Given the description of an element on the screen output the (x, y) to click on. 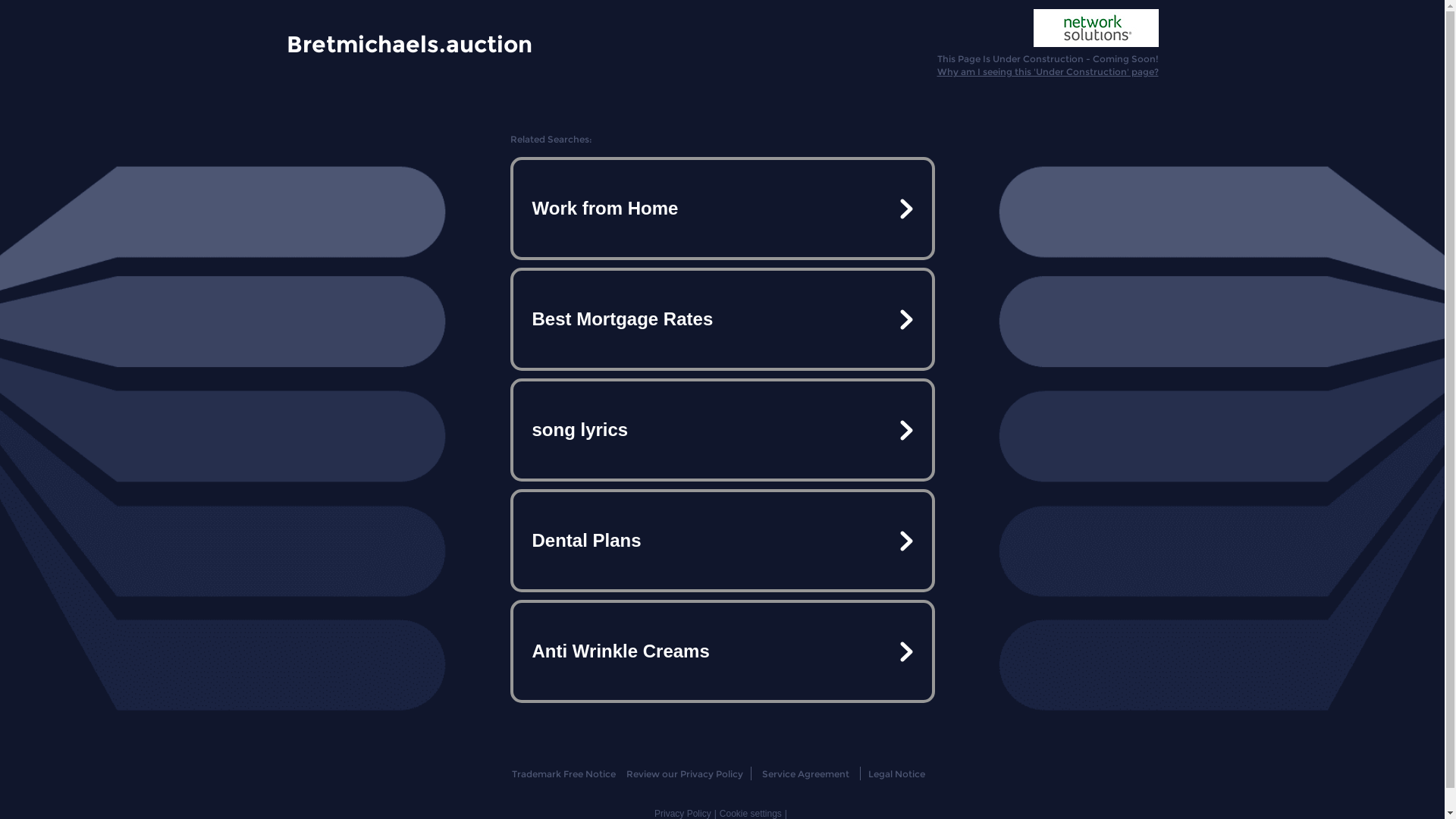
Why am I seeing this 'Under Construction' page? Element type: text (1047, 71)
Service Agreement Element type: text (805, 773)
Bretmichaels.auction Element type: text (409, 43)
Best Mortgage Rates Element type: text (721, 318)
Anti Wrinkle Creams Element type: text (721, 650)
Dental Plans Element type: text (721, 540)
Legal Notice Element type: text (896, 773)
Work from Home Element type: text (721, 208)
Review our Privacy Policy Element type: text (684, 773)
song lyrics Element type: text (721, 429)
Trademark Free Notice Element type: text (563, 773)
